Given the description of an element on the screen output the (x, y) to click on. 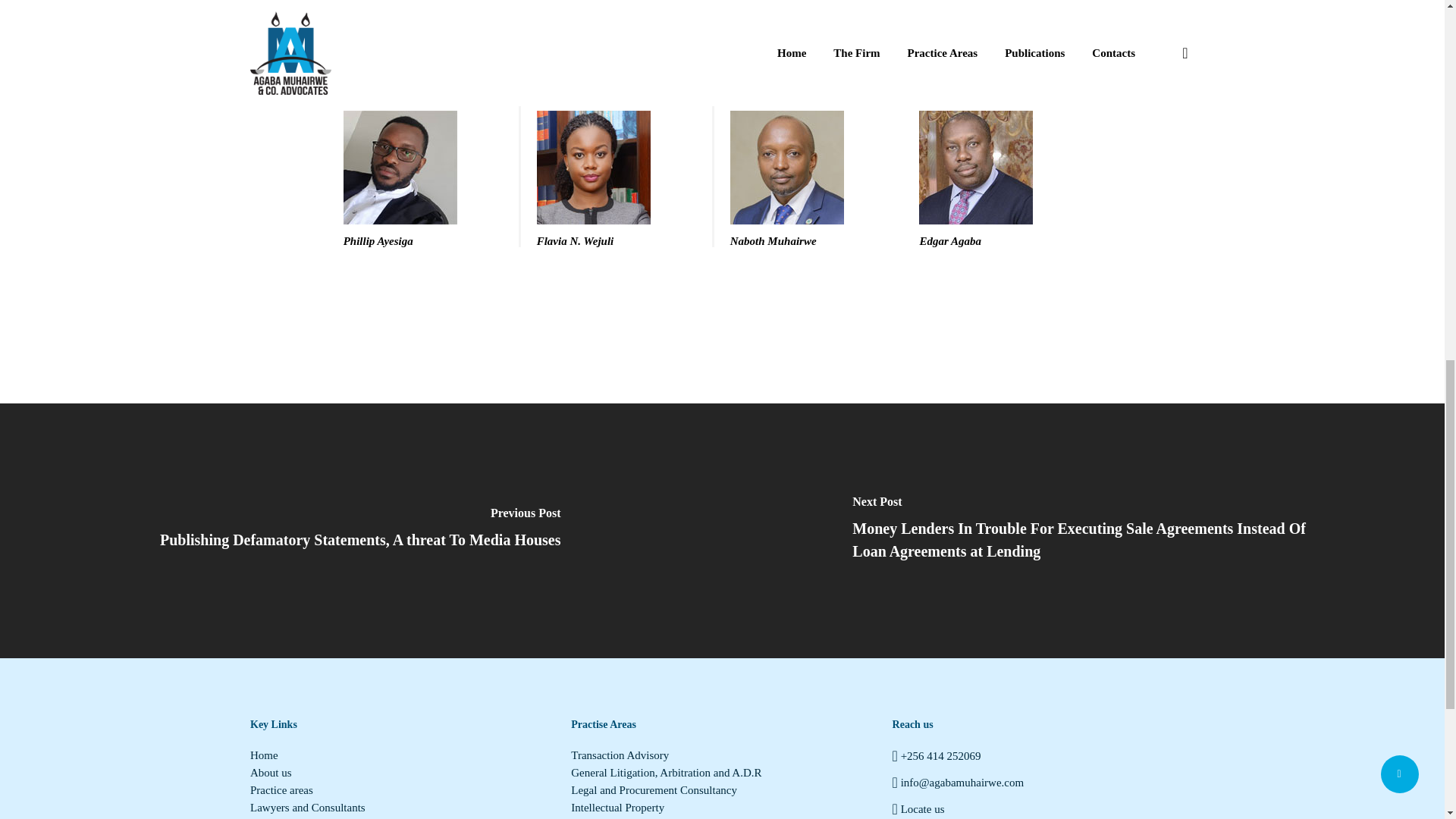
About us (400, 772)
Home (400, 755)
